Given the description of an element on the screen output the (x, y) to click on. 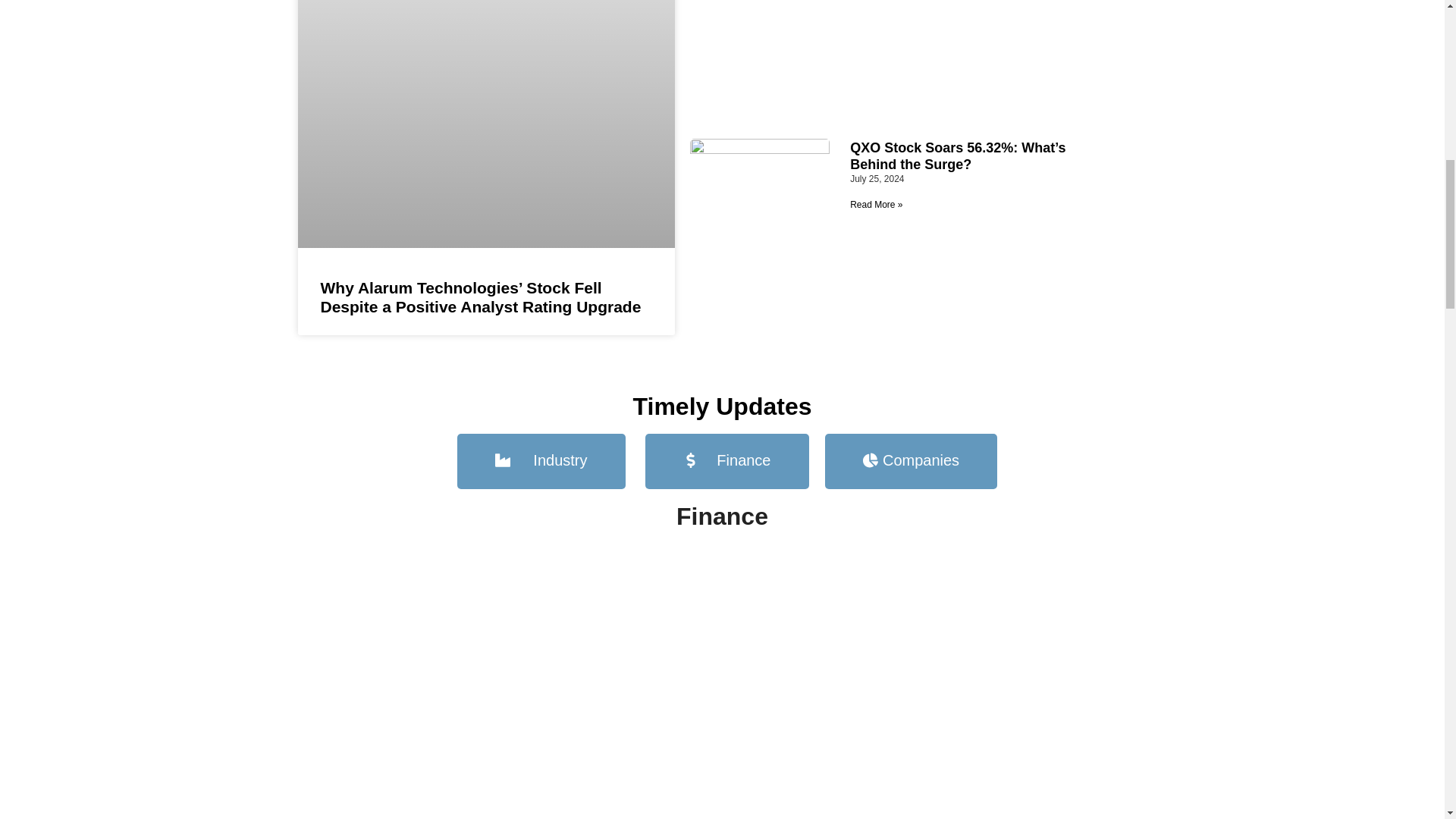
Industry (540, 461)
Finance (726, 461)
Companies (911, 461)
